Given the description of an element on the screen output the (x, y) to click on. 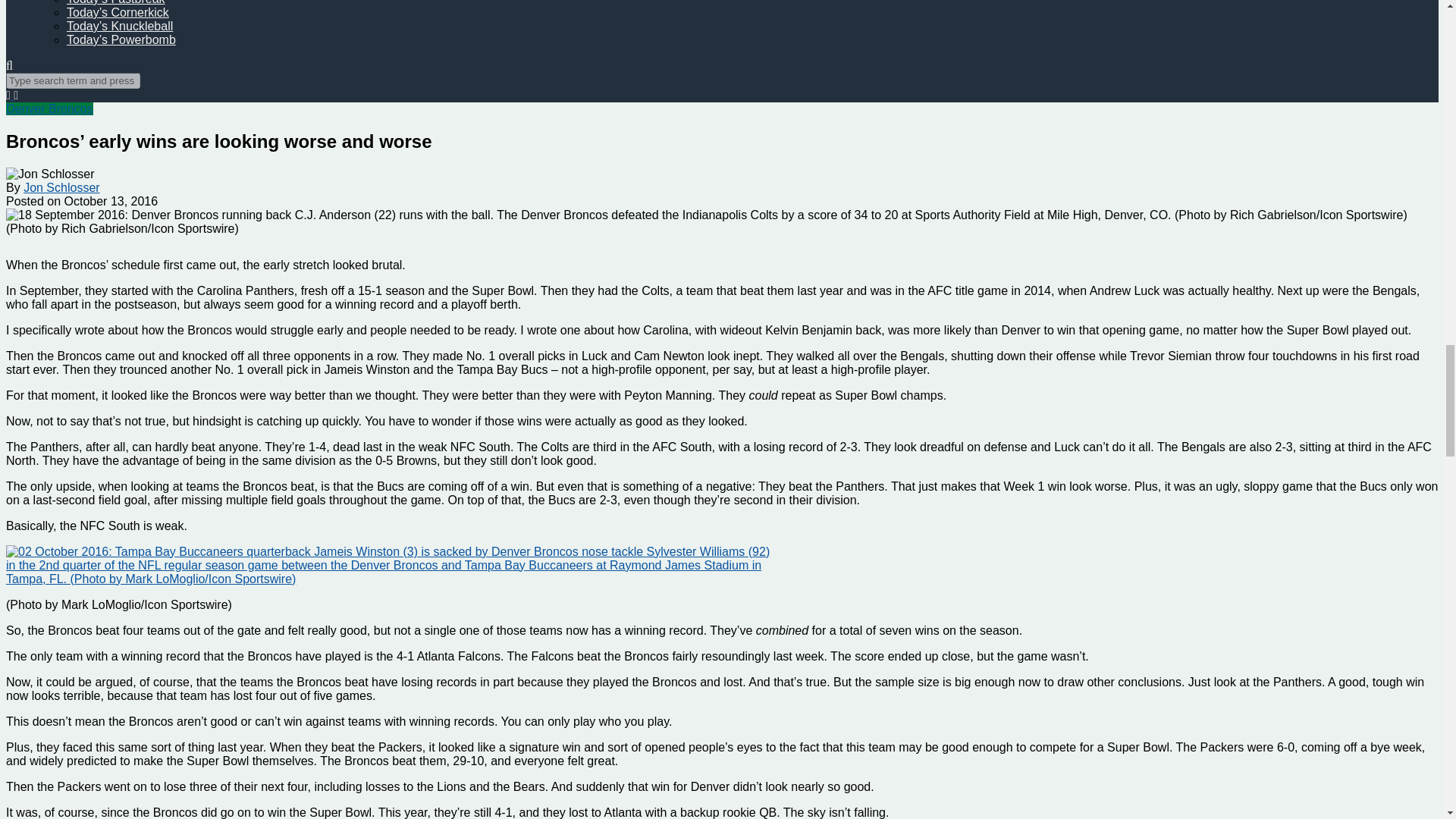
Type search term and press enter (72, 80)
